Given the description of an element on the screen output the (x, y) to click on. 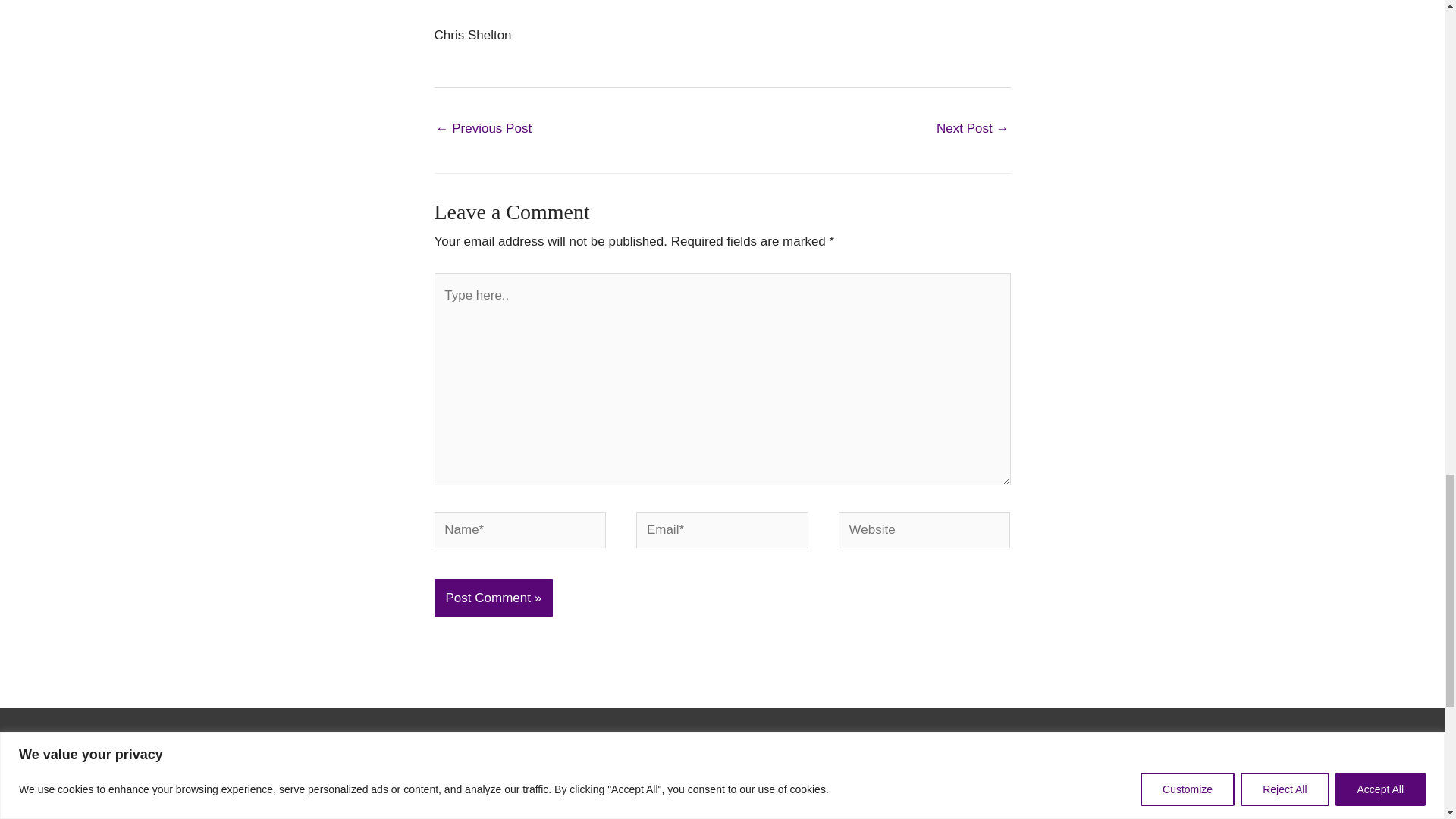
Increase Your Intuition Using Your Body (483, 130)
How to Improve Immunity Before Cold Season Falls (972, 130)
